Given the description of an element on the screen output the (x, y) to click on. 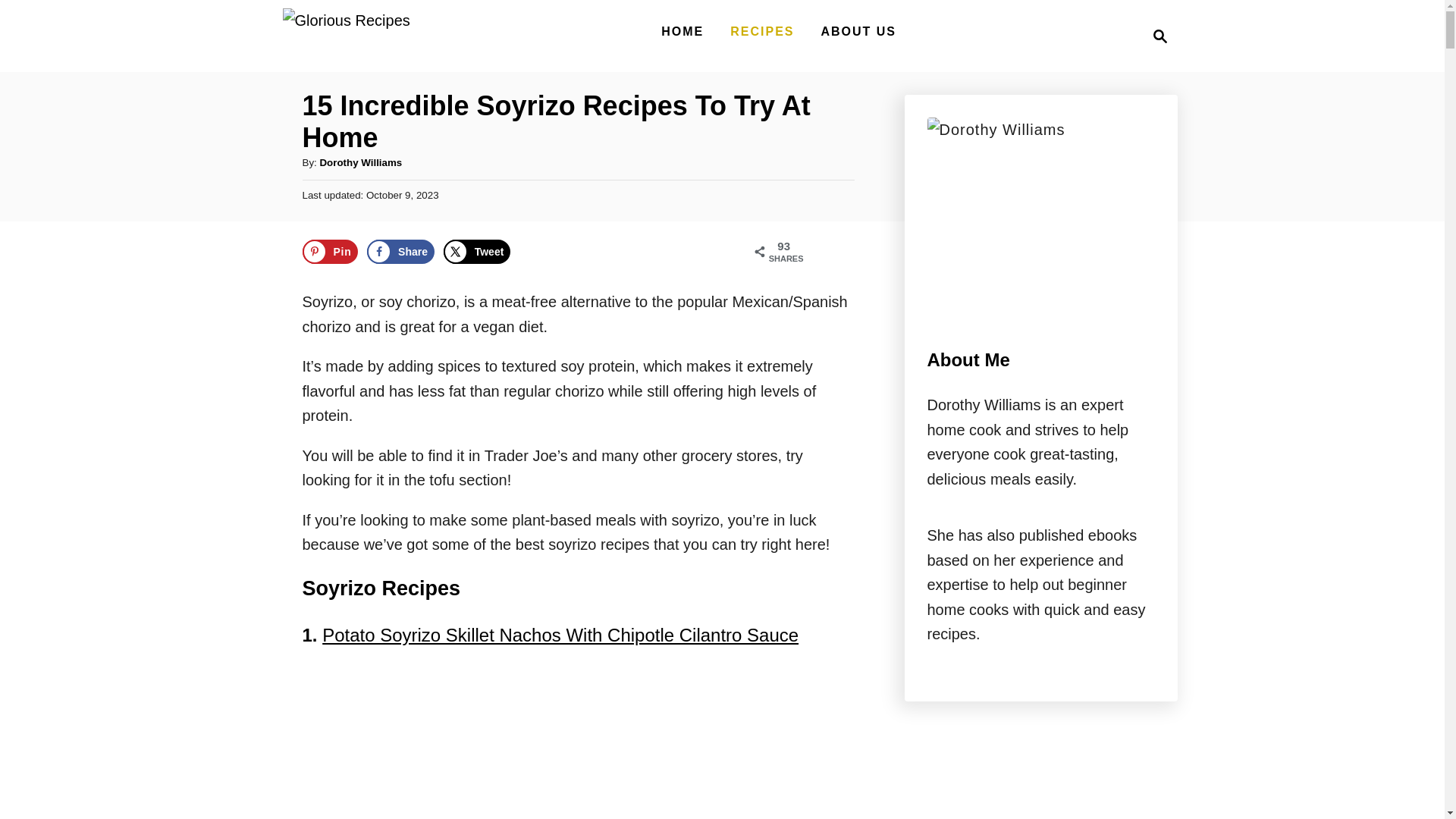
Magnifying Glass (1160, 36)
Potato Soyrizo Skillet Nachos with Chipotle Cilantro Sauce (1155, 36)
Glorious Recipes (472, 742)
HOME (345, 35)
Save to Pinterest (682, 31)
Share on Facebook (329, 251)
RECIPES (399, 251)
Share on X (762, 31)
